Given the description of an element on the screen output the (x, y) to click on. 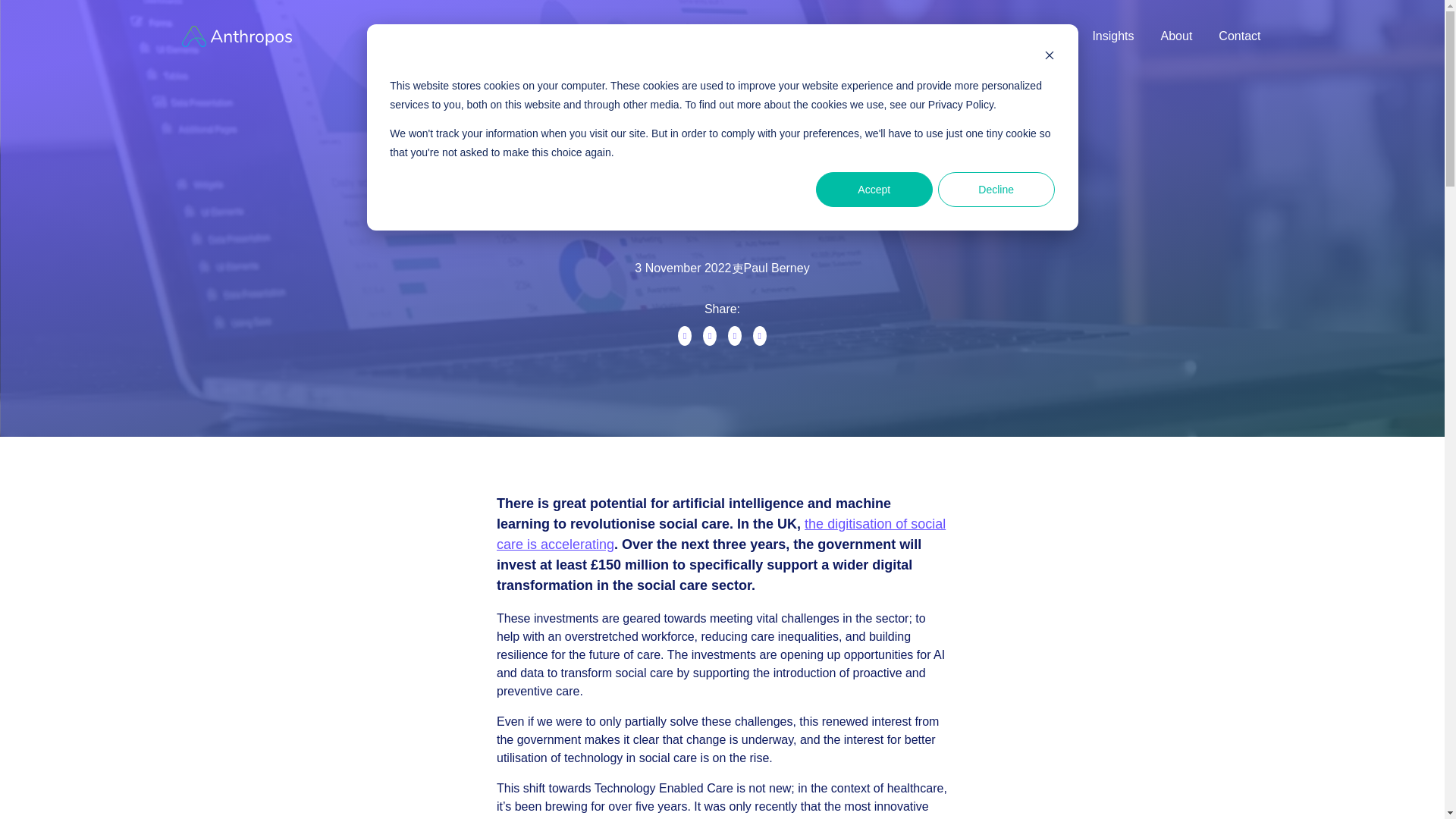
the digitisation of social care is accelerating (720, 534)
About (1176, 36)
Partners (1042, 36)
Customer Stories (938, 36)
Accept (874, 189)
Contact (1239, 36)
Decline (995, 189)
Products (842, 36)
Insights (1112, 36)
